Given the description of an element on the screen output the (x, y) to click on. 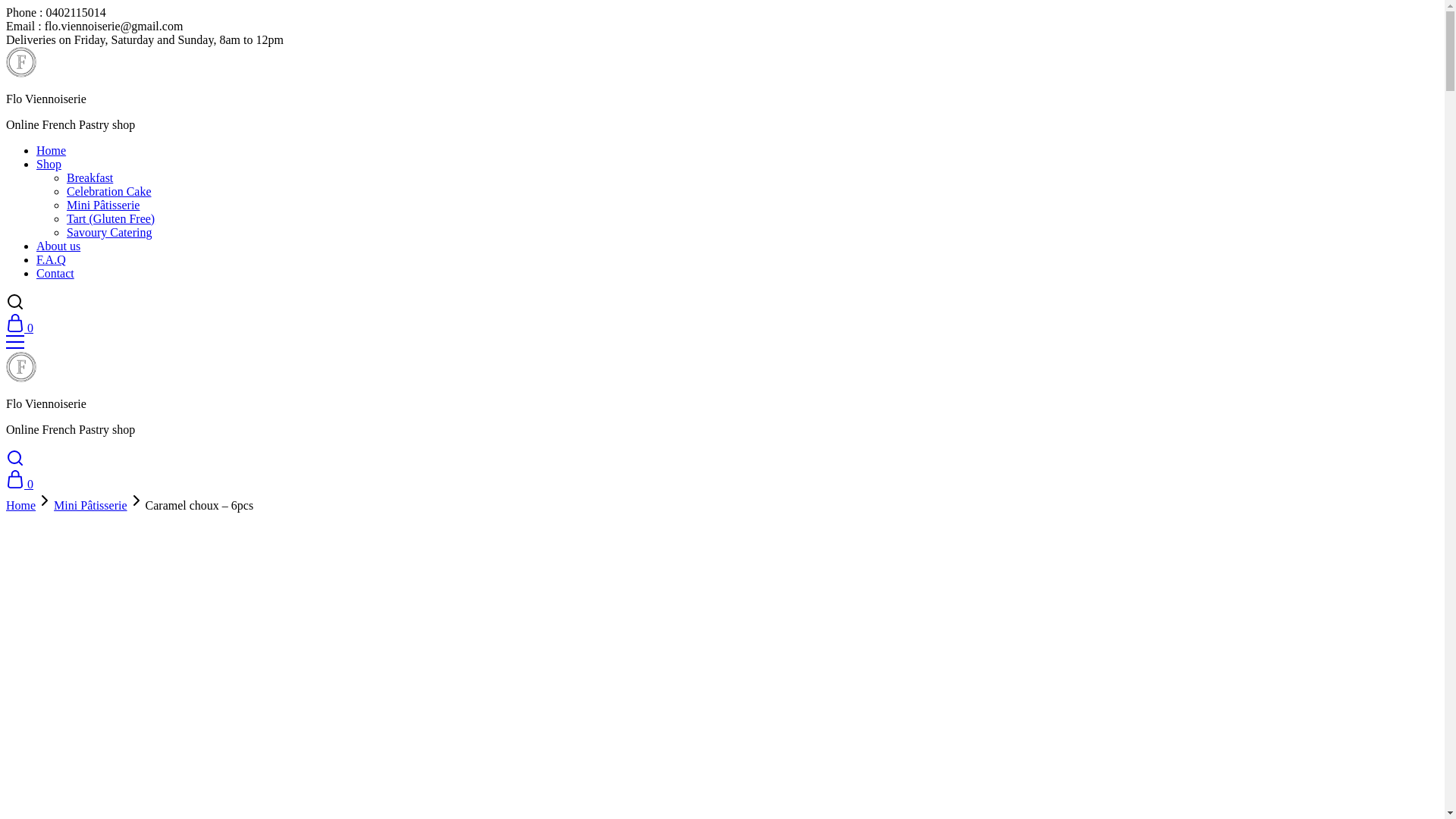
0 Element type: text (19, 483)
Home Element type: text (50, 150)
0 Element type: text (19, 327)
About us Element type: text (58, 245)
F.A.Q Element type: text (50, 259)
Shop Element type: text (48, 163)
Savoury Catering Element type: text (108, 231)
Home Element type: text (20, 504)
Breakfast Element type: text (89, 177)
Celebration Cake Element type: text (108, 191)
Contact Element type: text (55, 272)
Tart (Gluten Free) Element type: text (110, 218)
